Given the description of an element on the screen output the (x, y) to click on. 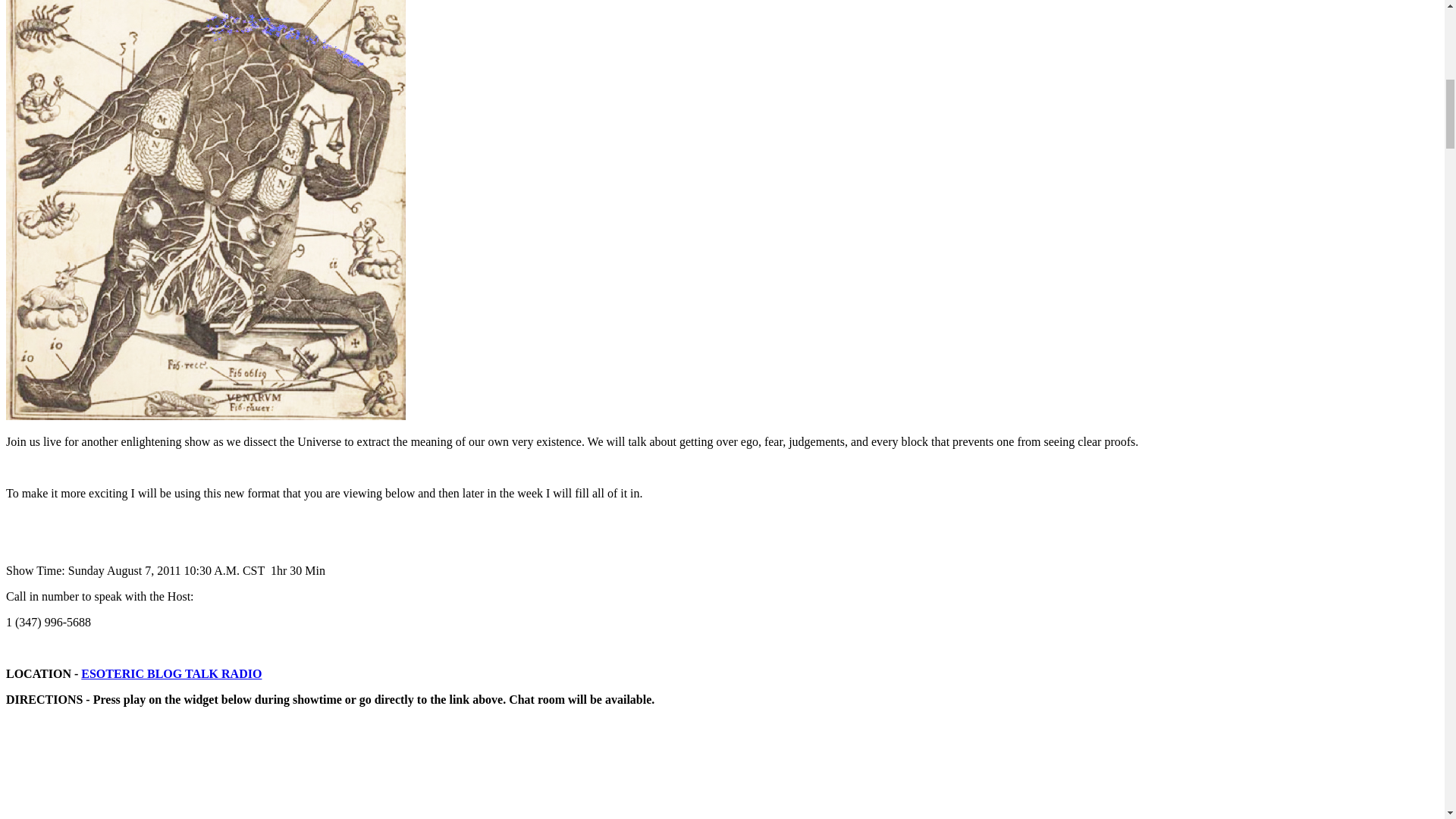
ESOTERIC BLOG TALK RADIO (171, 673)
